Given the description of an element on the screen output the (x, y) to click on. 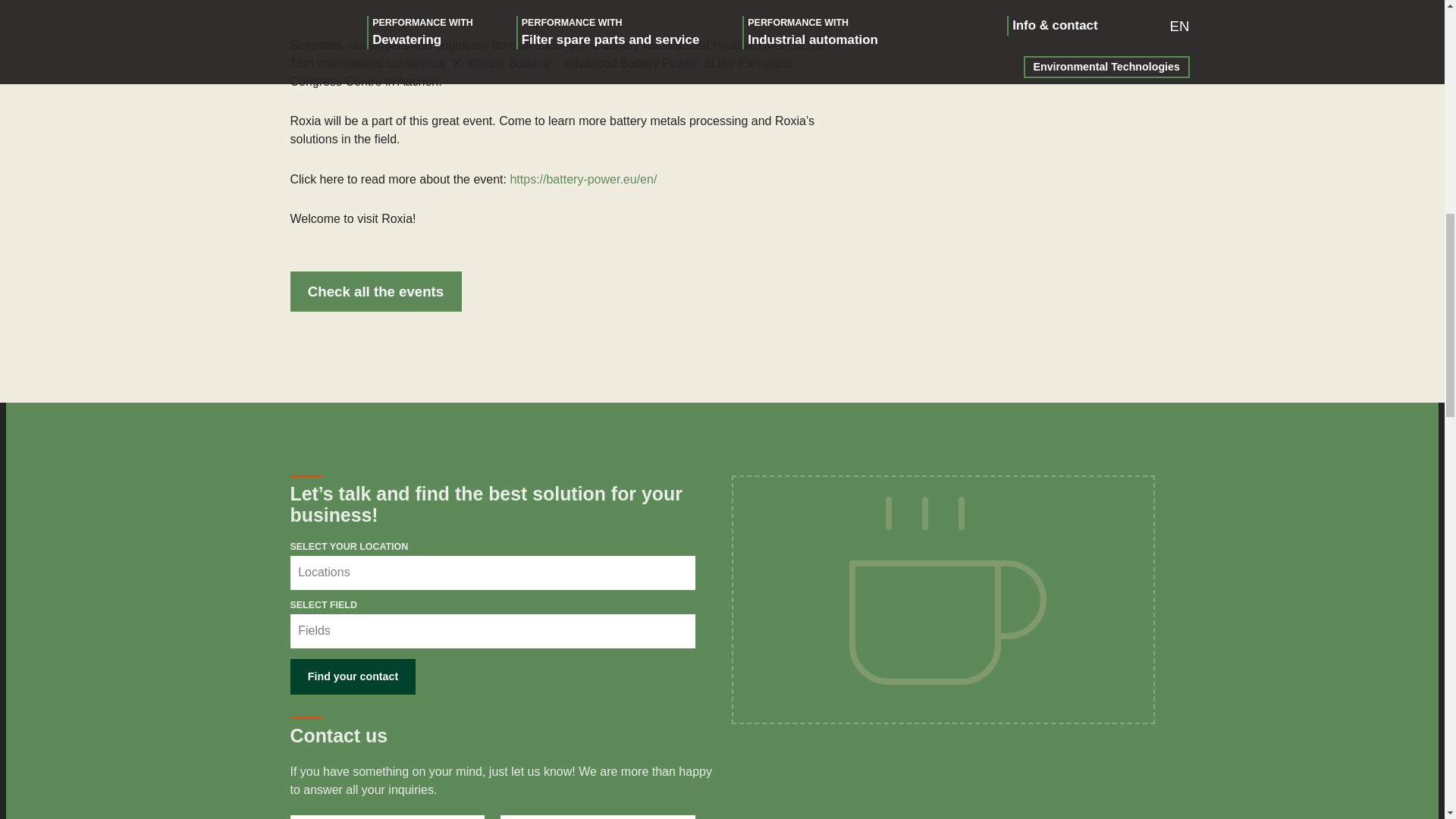
Select you location (491, 572)
Find your contact (351, 676)
Select field (491, 631)
